Given the description of an element on the screen output the (x, y) to click on. 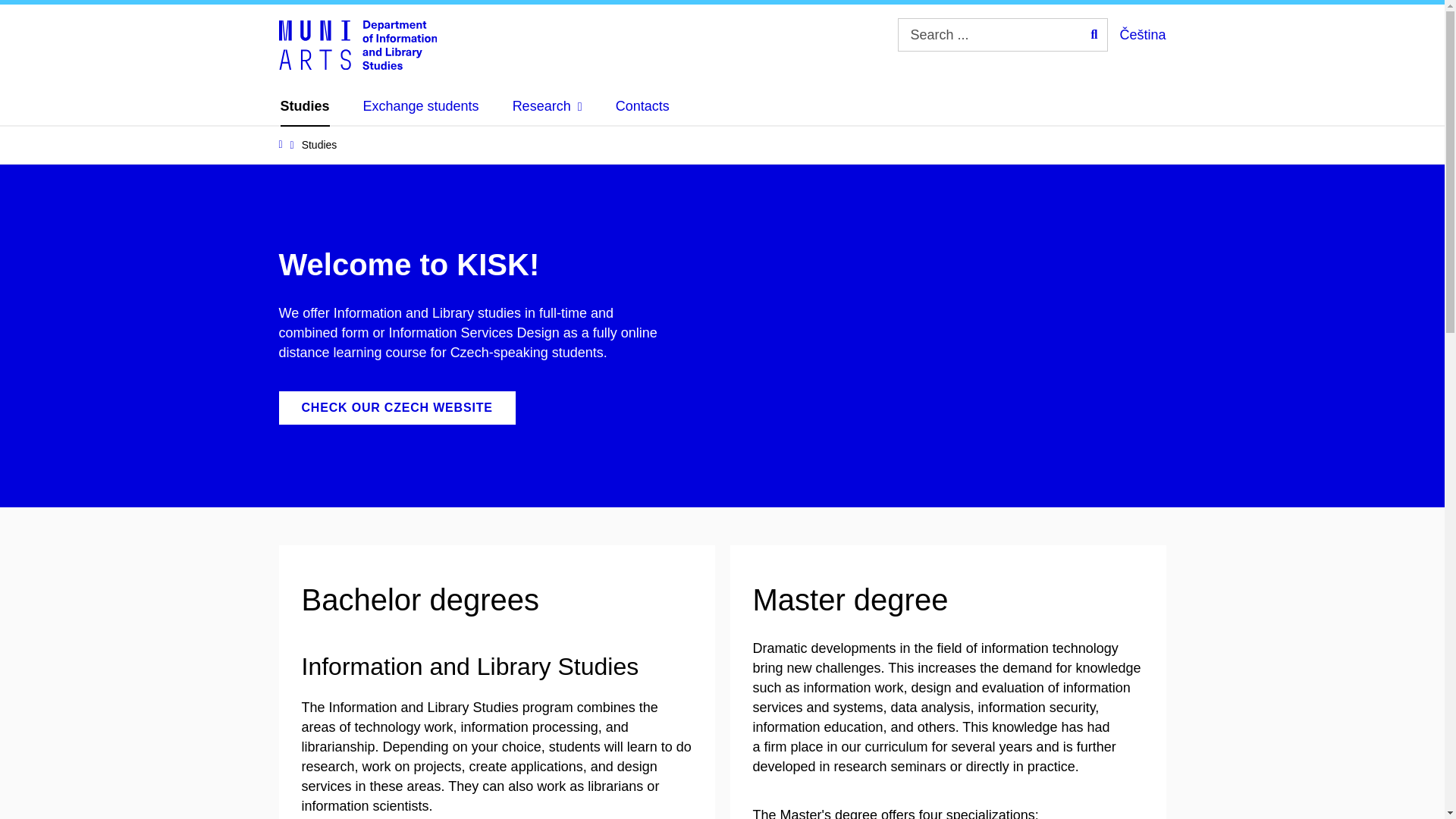
Homepage site (357, 43)
Contacts (642, 105)
Department of Information and Library Studies (357, 43)
Research (547, 105)
Exchange students (420, 105)
Department of Information and Library Studies (357, 43)
CHECK OUR CZECH WEBSITE (397, 408)
Studies (305, 105)
